Given the description of an element on the screen output the (x, y) to click on. 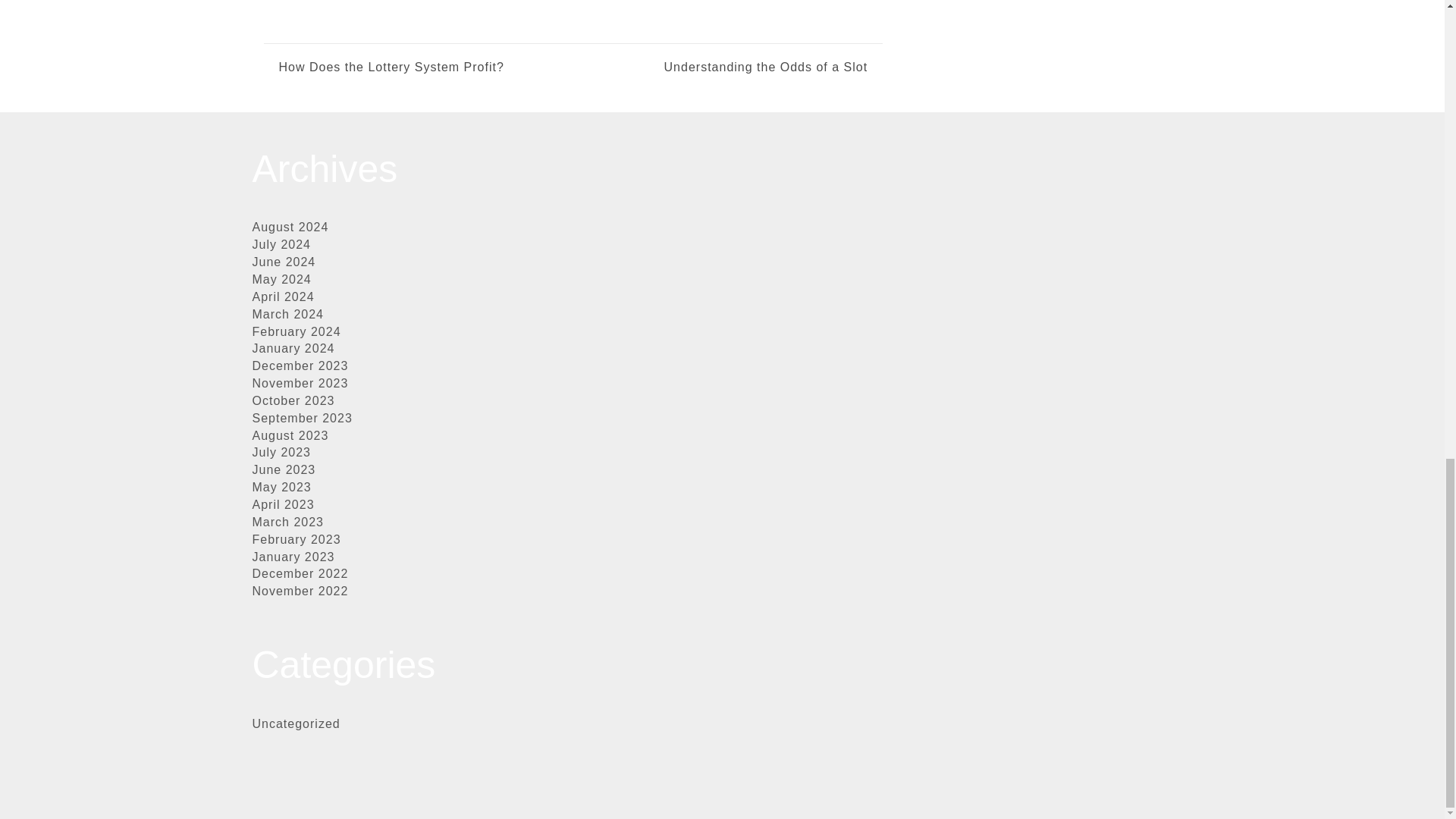
June 2024 (283, 261)
How Does the Lottery System Profit? (391, 67)
April 2024 (282, 296)
November 2023 (299, 382)
March 2023 (287, 521)
July 2023 (281, 451)
August 2024 (290, 226)
Understanding the Odds of a Slot (720, 67)
June 2023 (283, 469)
September 2023 (301, 418)
